Given the description of an element on the screen output the (x, y) to click on. 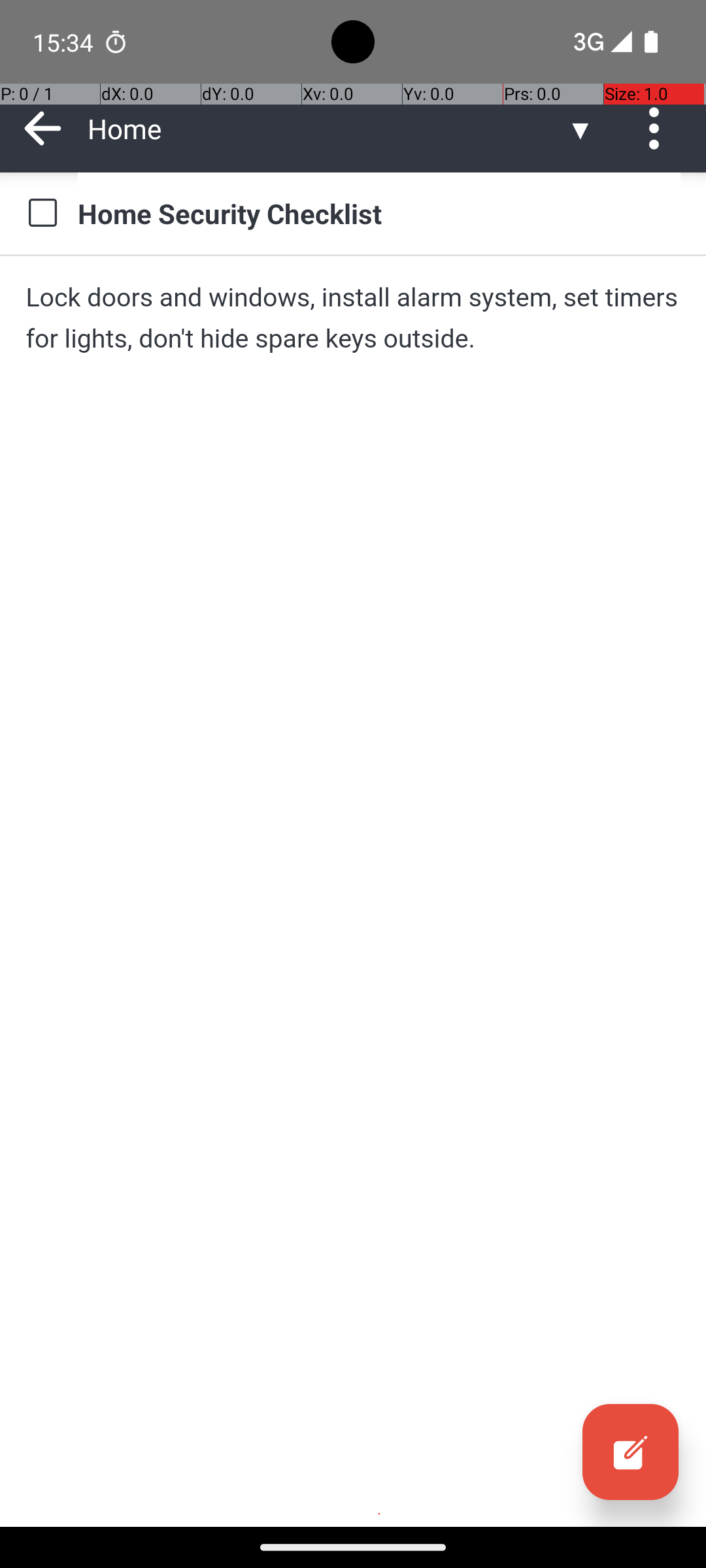
Home Security Checklist Element type: android.widget.EditText (378, 213)
Lock doors and windows, install alarm system, set timers for lights, don't hide spare keys outside. Element type: android.widget.TextView (352, 317)
